Given the description of an element on the screen output the (x, y) to click on. 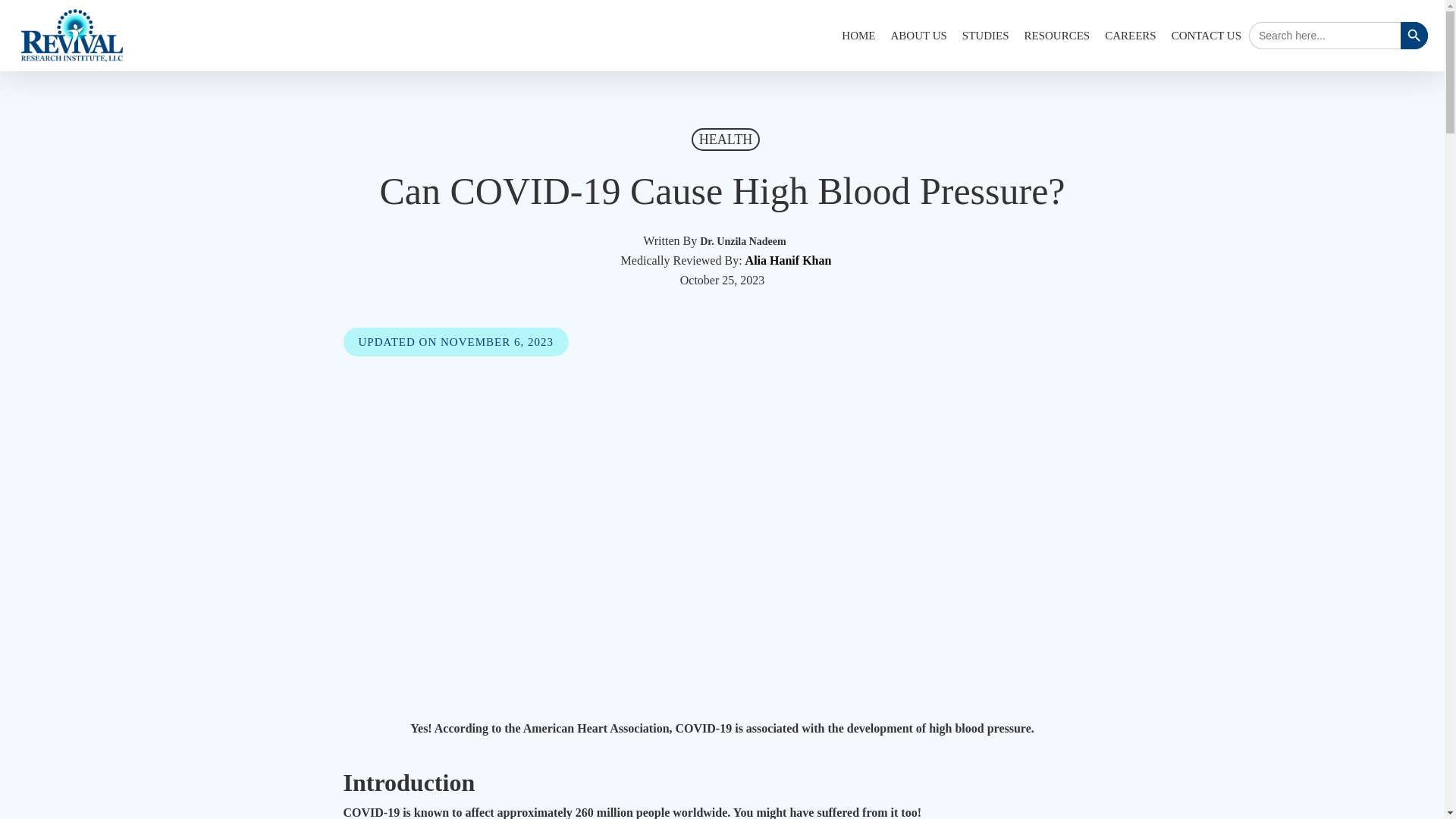
ABOUT US (917, 35)
Posts by Dr. Unzila Nadeem (743, 241)
STUDIES (985, 35)
HOME (858, 35)
